Given the description of an element on the screen output the (x, y) to click on. 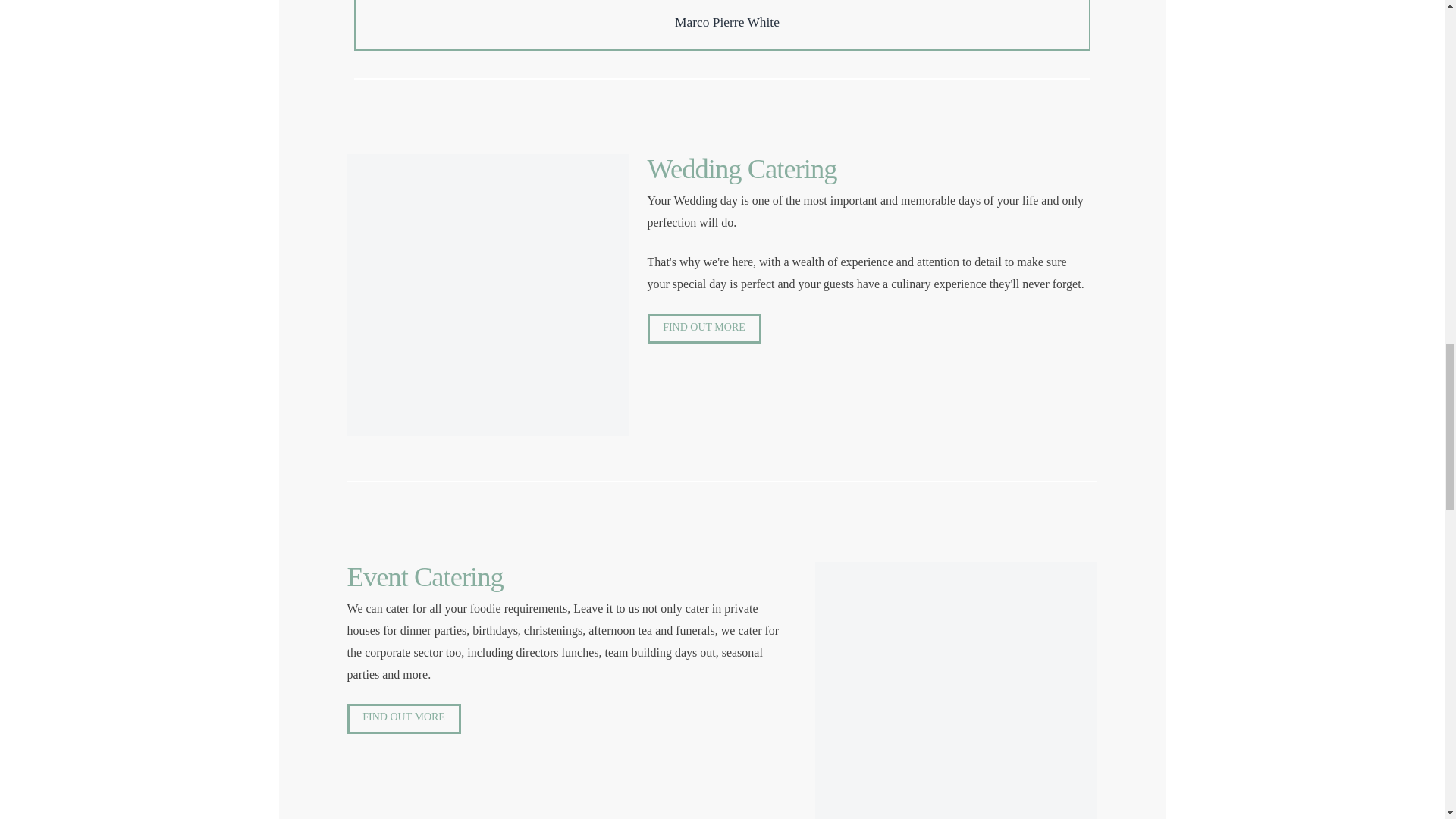
FIND OUT MORE (404, 718)
Find out more about our event catering services (404, 718)
Find out more about our wedding catering services (704, 328)
FIND OUT MORE (704, 328)
